Given the description of an element on the screen output the (x, y) to click on. 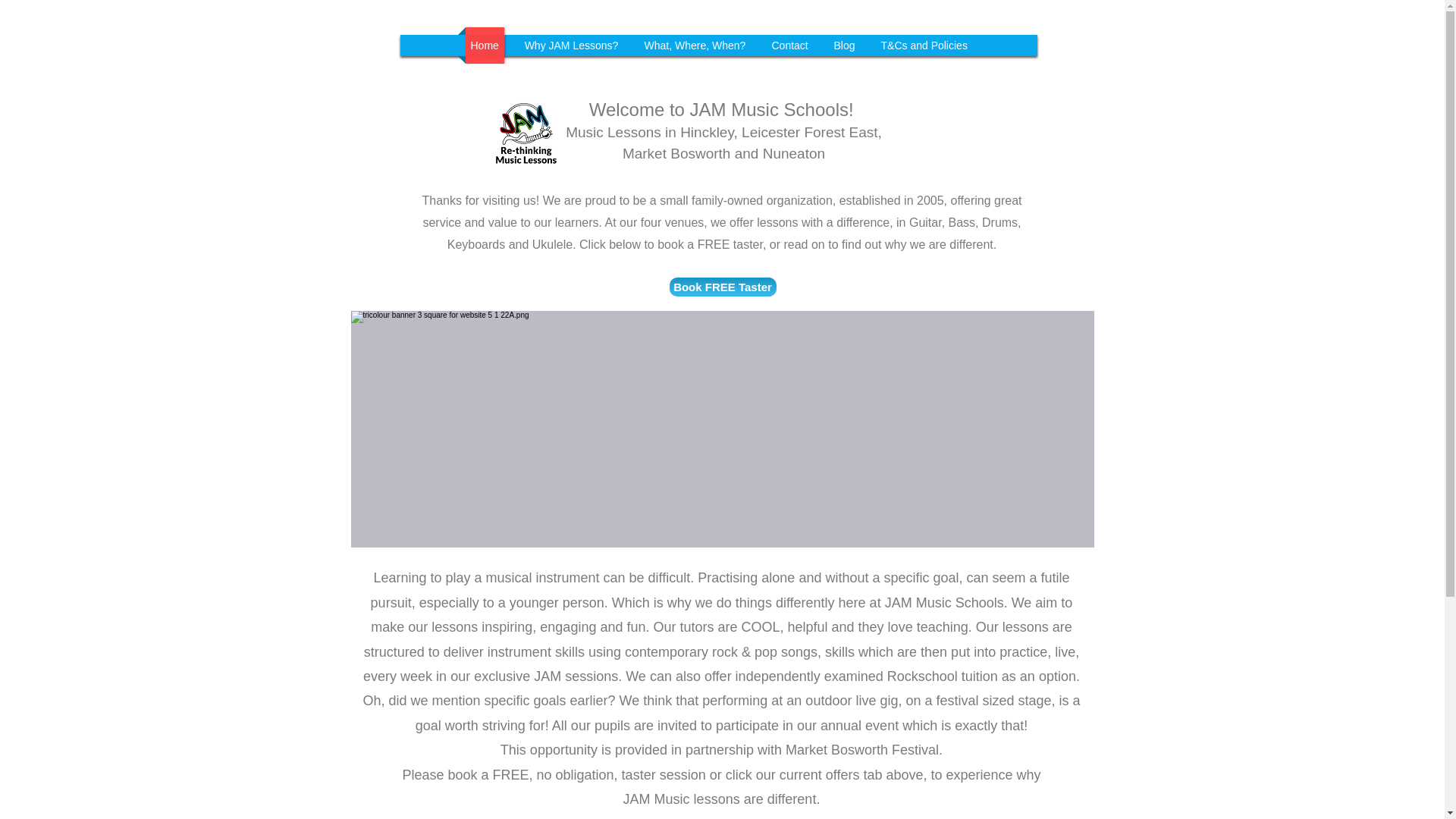
Why JAM Lessons? (570, 45)
What, Where, When? (694, 45)
Home (485, 45)
Contact (789, 45)
Blog (844, 45)
Book FREE Taster (722, 286)
